Given the description of an element on the screen output the (x, y) to click on. 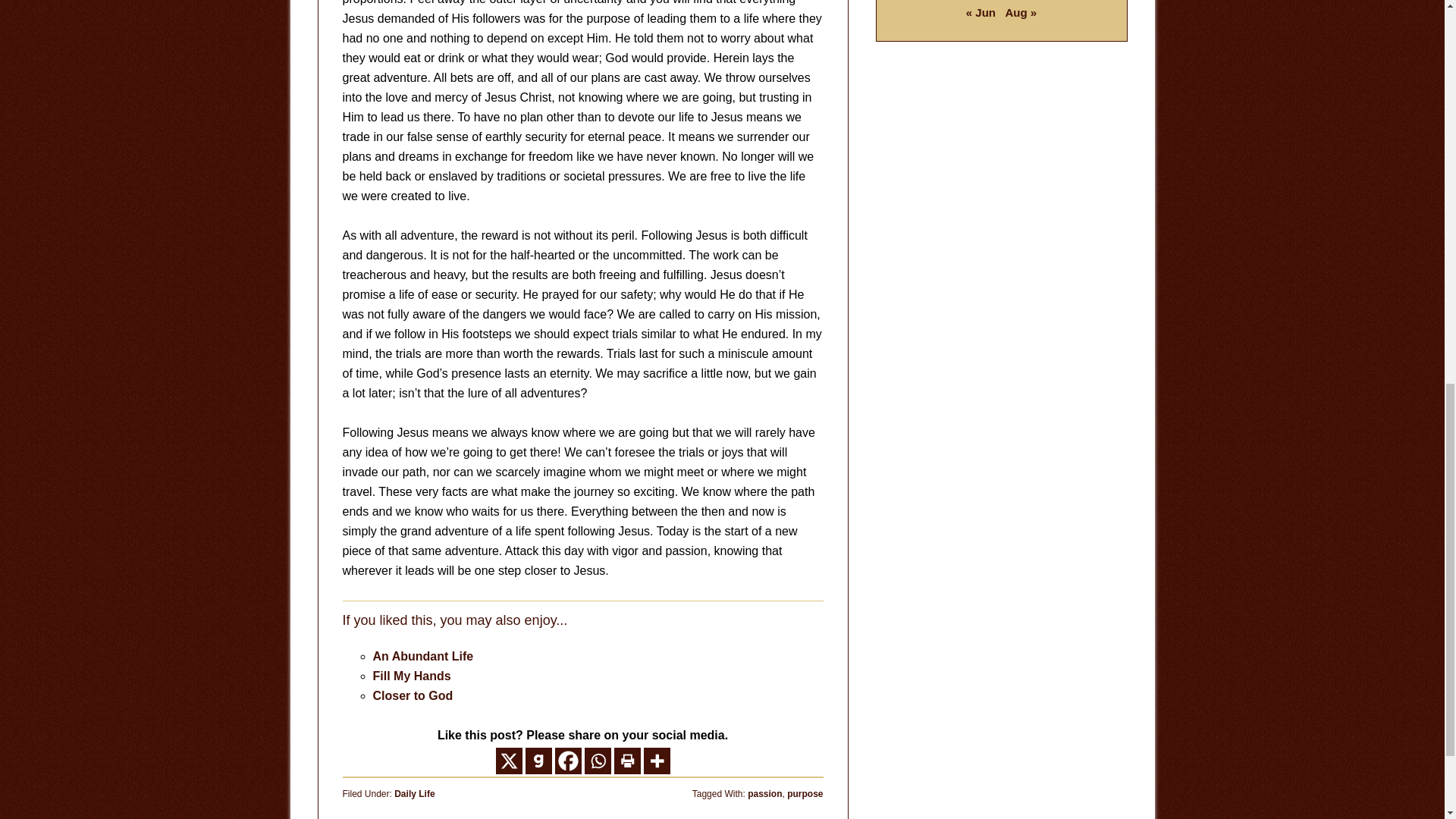
Closer to God (412, 695)
Print (627, 760)
Whatsapp (596, 760)
X (509, 760)
Facebook (567, 760)
Closer to God (412, 695)
Daily Life (413, 793)
Fill My Hands (411, 675)
An Abundant Life (423, 656)
passion (764, 793)
